Given the description of an element on the screen output the (x, y) to click on. 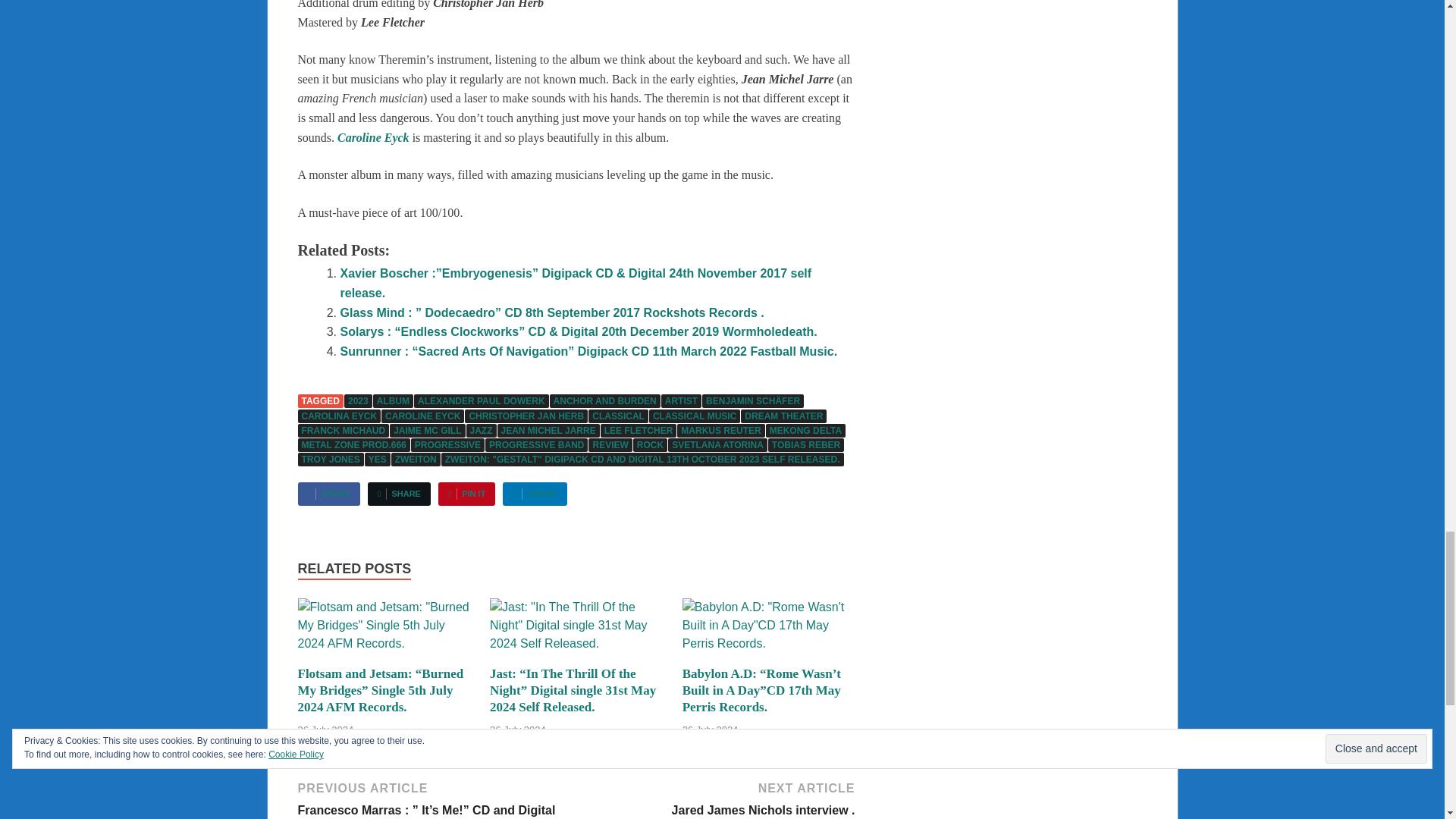
Caroline Eyck (373, 137)
